Given the description of an element on the screen output the (x, y) to click on. 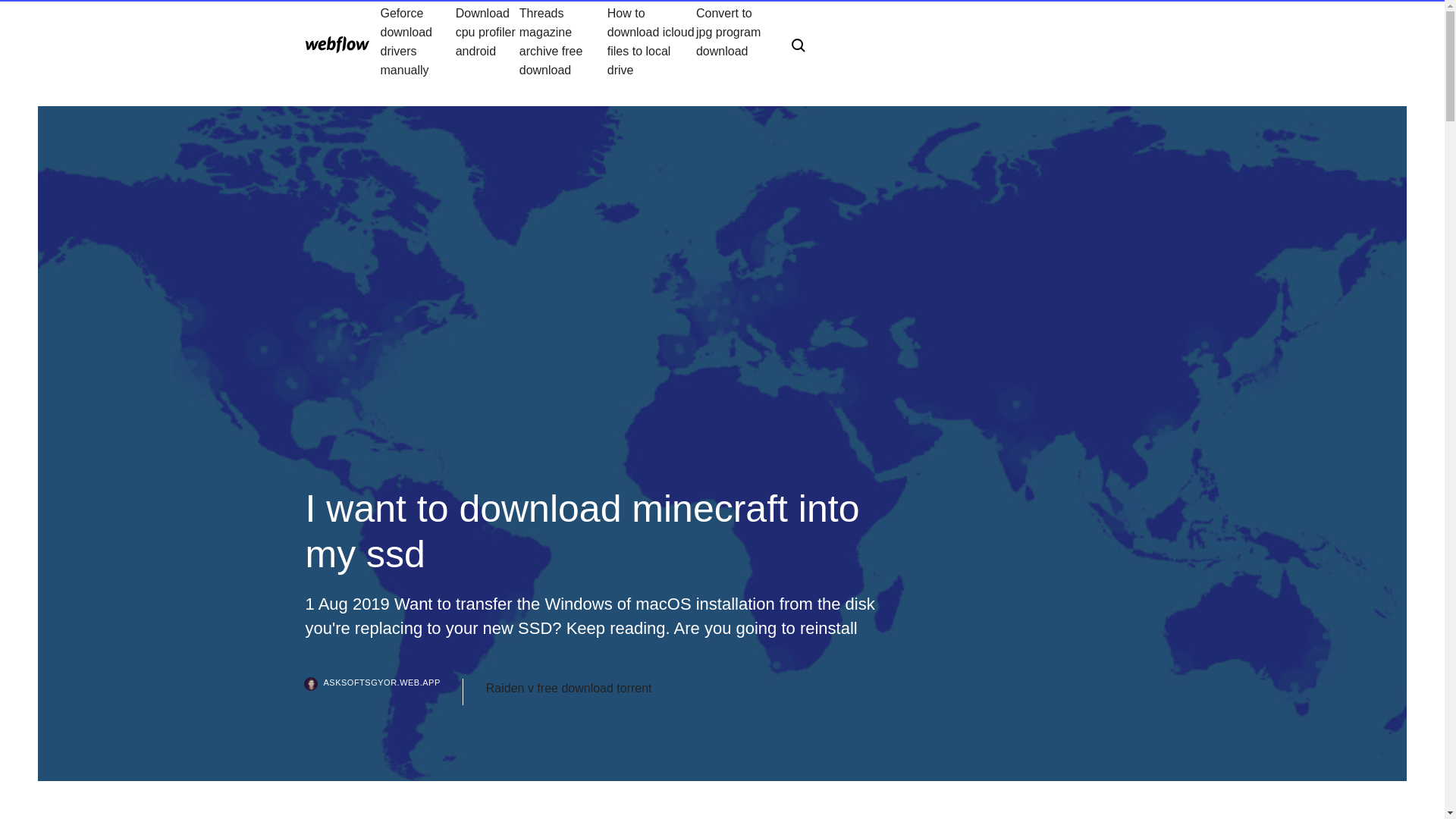
Geforce download drivers manually (417, 41)
ASKSOFTSGYOR.WEB.APP (383, 691)
Convert to jpg program download (731, 41)
Threads magazine archive free download (563, 41)
Raiden v free download torrent (569, 687)
How to download icloud files to local drive (651, 41)
